Given the description of an element on the screen output the (x, y) to click on. 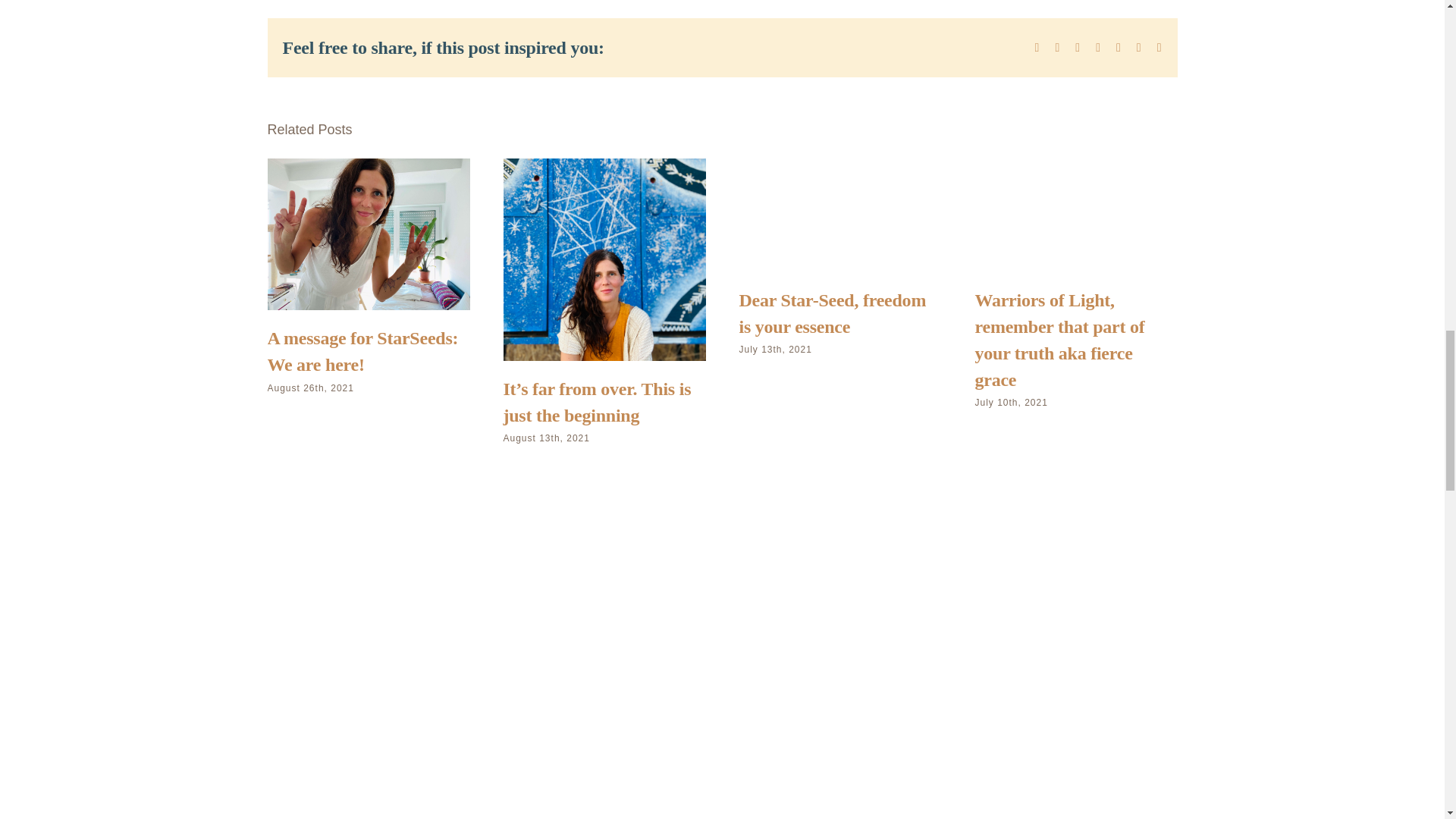
A message for StarSeeds: We are here! (362, 351)
Dear Star-Seed, freedom is your essence (832, 313)
Dear Star-Seed, freedom is your essence (832, 313)
A message for StarSeeds: We are here! (362, 351)
